Given the description of an element on the screen output the (x, y) to click on. 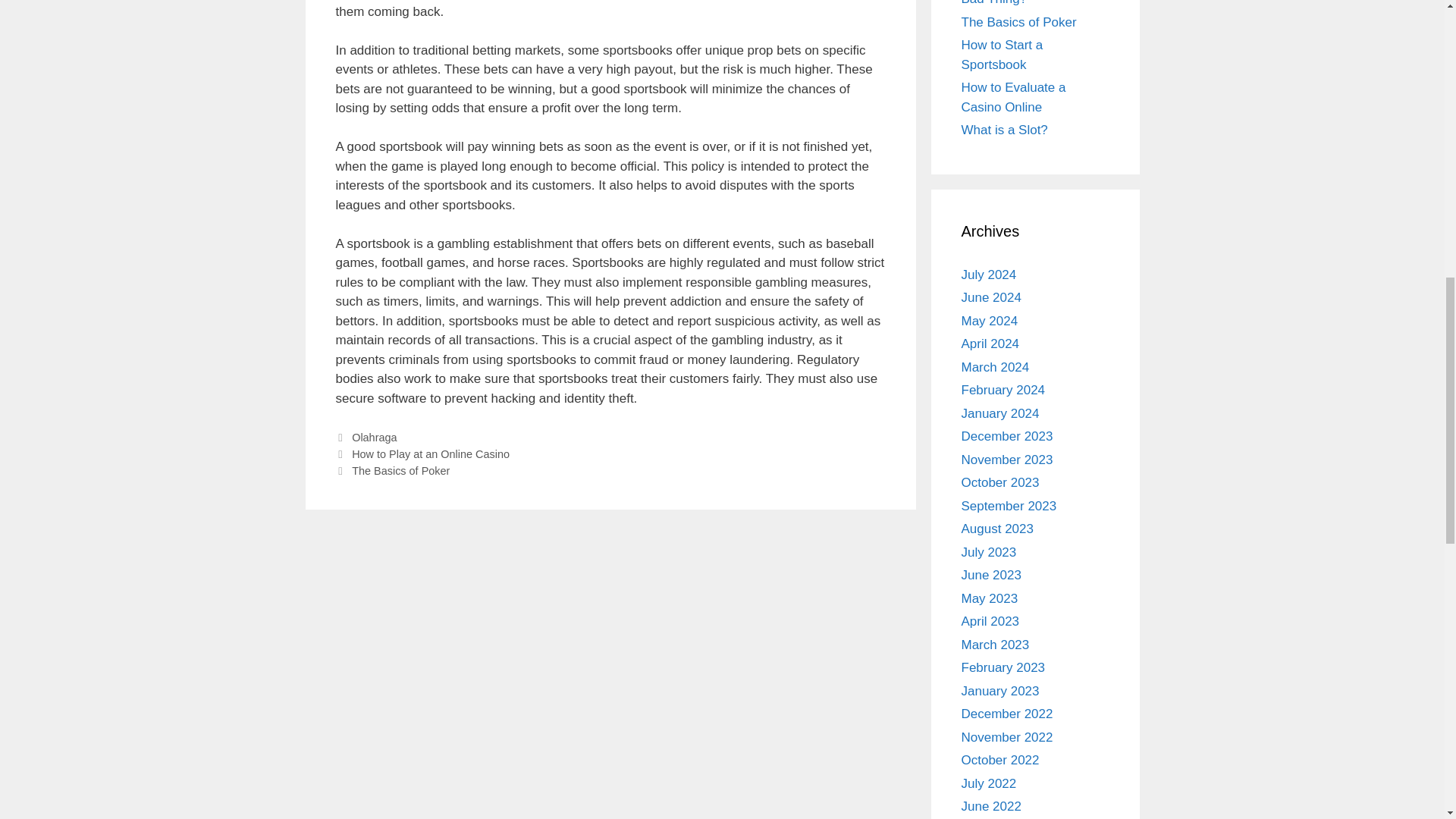
March 2024 (994, 366)
April 2024 (990, 343)
Is the Lottery a Good Or Bad Thing? (1029, 3)
How to Play at an Online Casino (430, 453)
Olahraga (374, 437)
February 2024 (1002, 390)
May 2024 (988, 320)
How to Start a Sportsbook (1001, 54)
What is a Slot? (1004, 129)
July 2024 (988, 273)
June 2024 (991, 297)
The Basics of Poker (1018, 22)
The Basics of Poker (400, 469)
How to Evaluate a Casino Online (1012, 97)
